Given the description of an element on the screen output the (x, y) to click on. 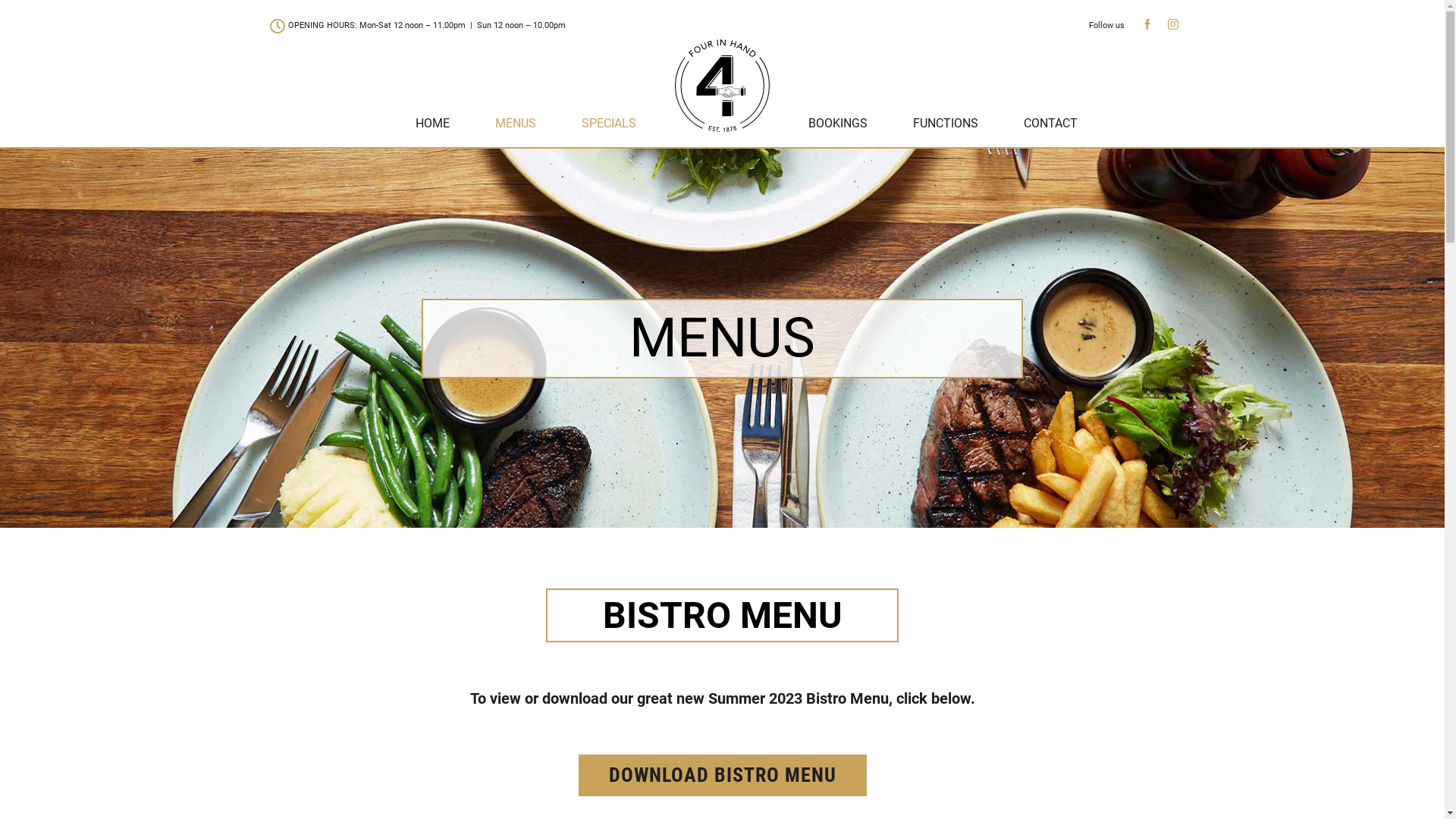
HOME Element type: text (432, 123)
FUNCTIONS Element type: text (945, 123)
CONTACT Element type: text (1050, 123)
SPECIALS Element type: text (608, 123)
MENUS Element type: text (515, 123)
DOWNLOAD BISTRO MENU Element type: text (721, 775)
BOOKINGS Element type: text (837, 123)
